Given the description of an element on the screen output the (x, y) to click on. 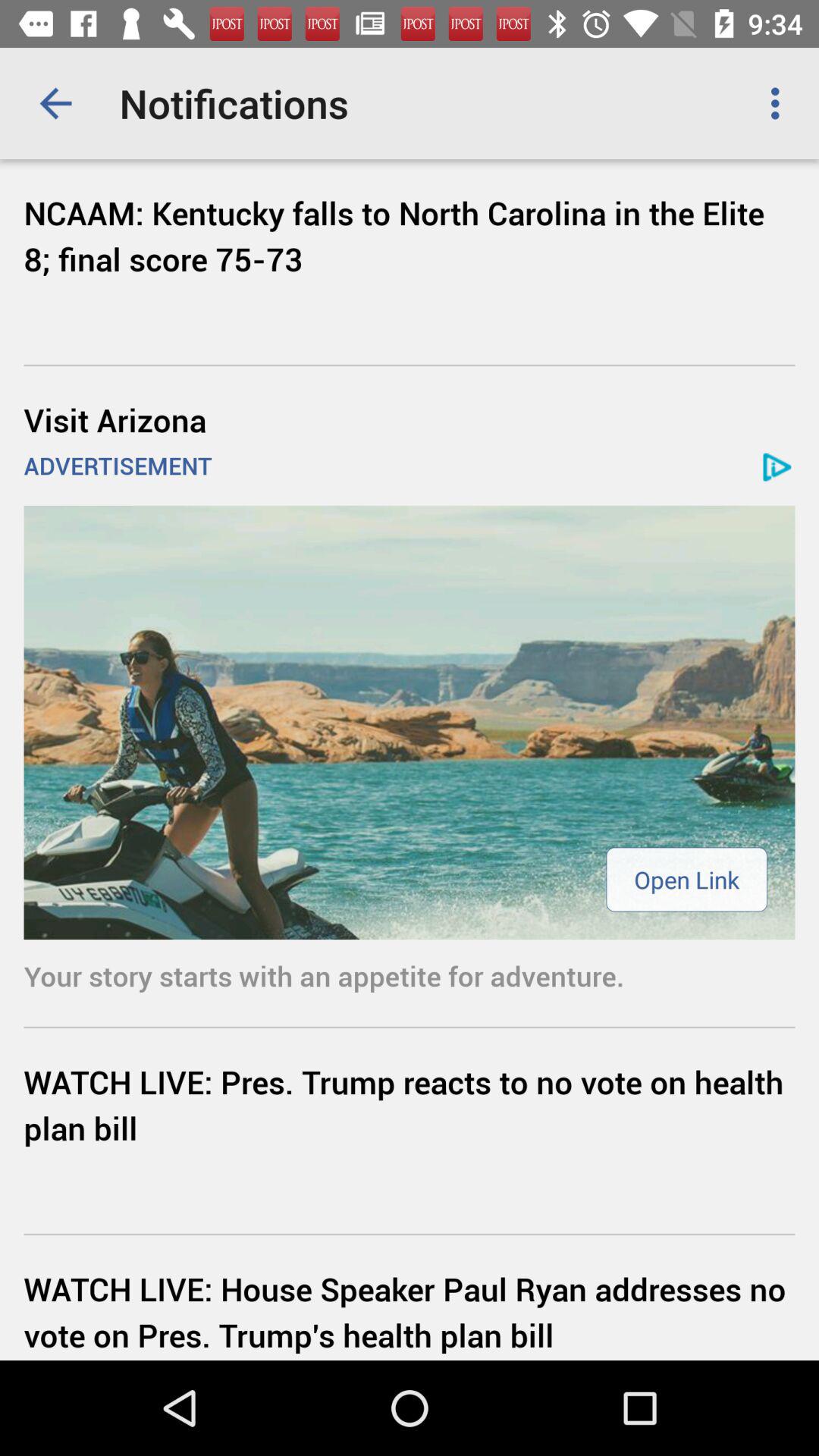
flip to the your story starts item (409, 975)
